Given the description of an element on the screen output the (x, y) to click on. 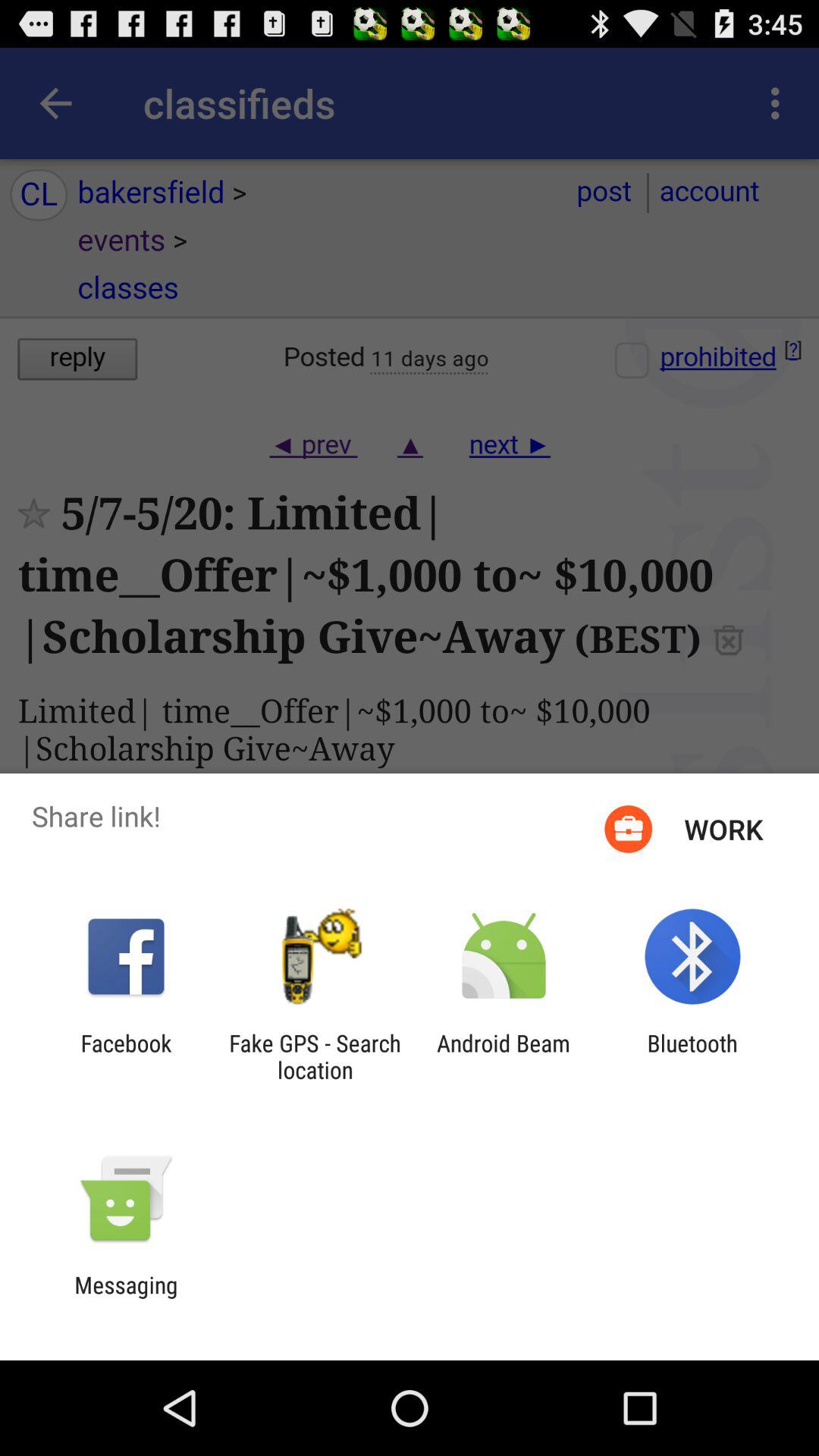
scroll until the bluetooth icon (692, 1056)
